Given the description of an element on the screen output the (x, y) to click on. 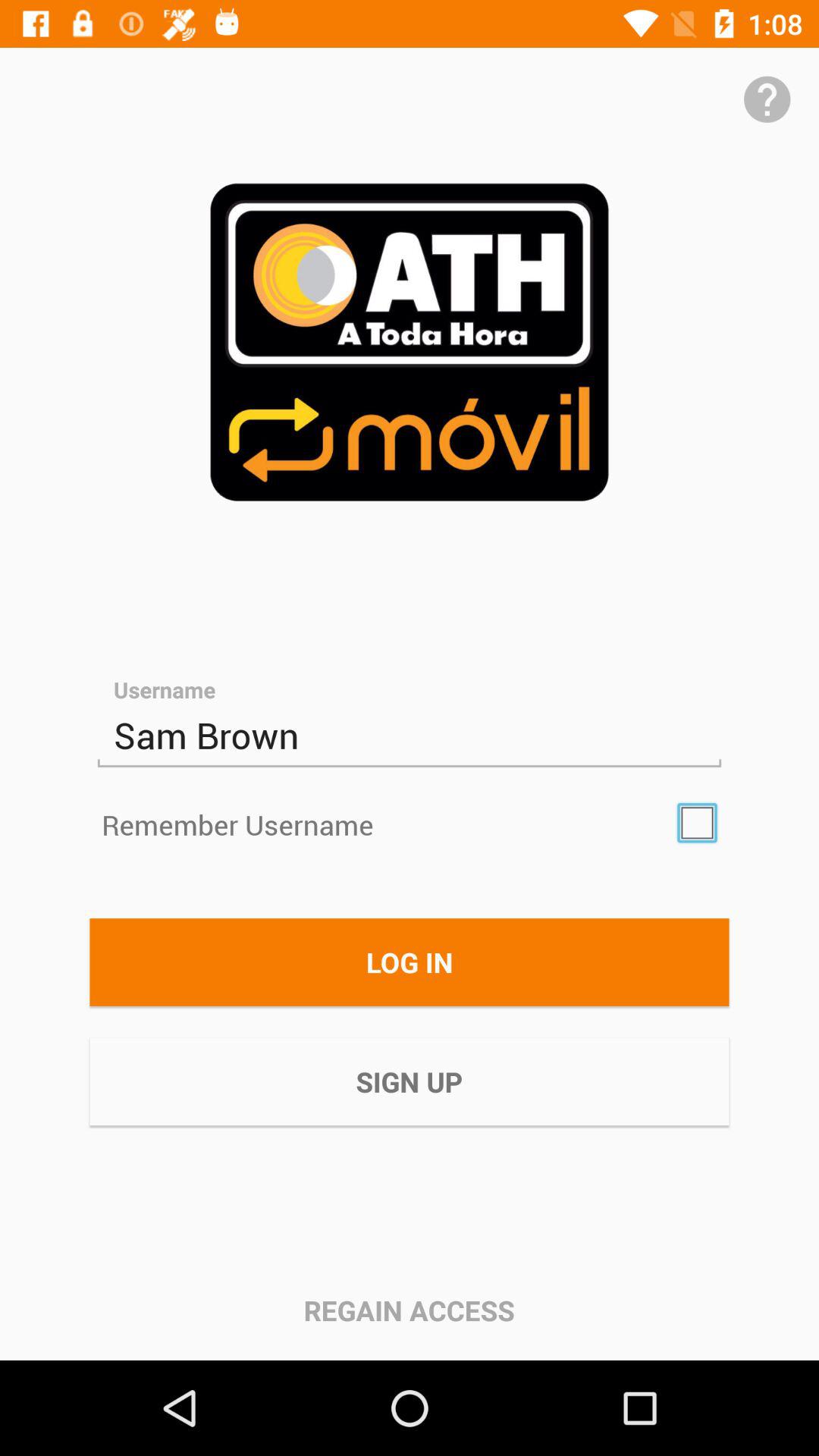
flip to regain access (408, 1310)
